Given the description of an element on the screen output the (x, y) to click on. 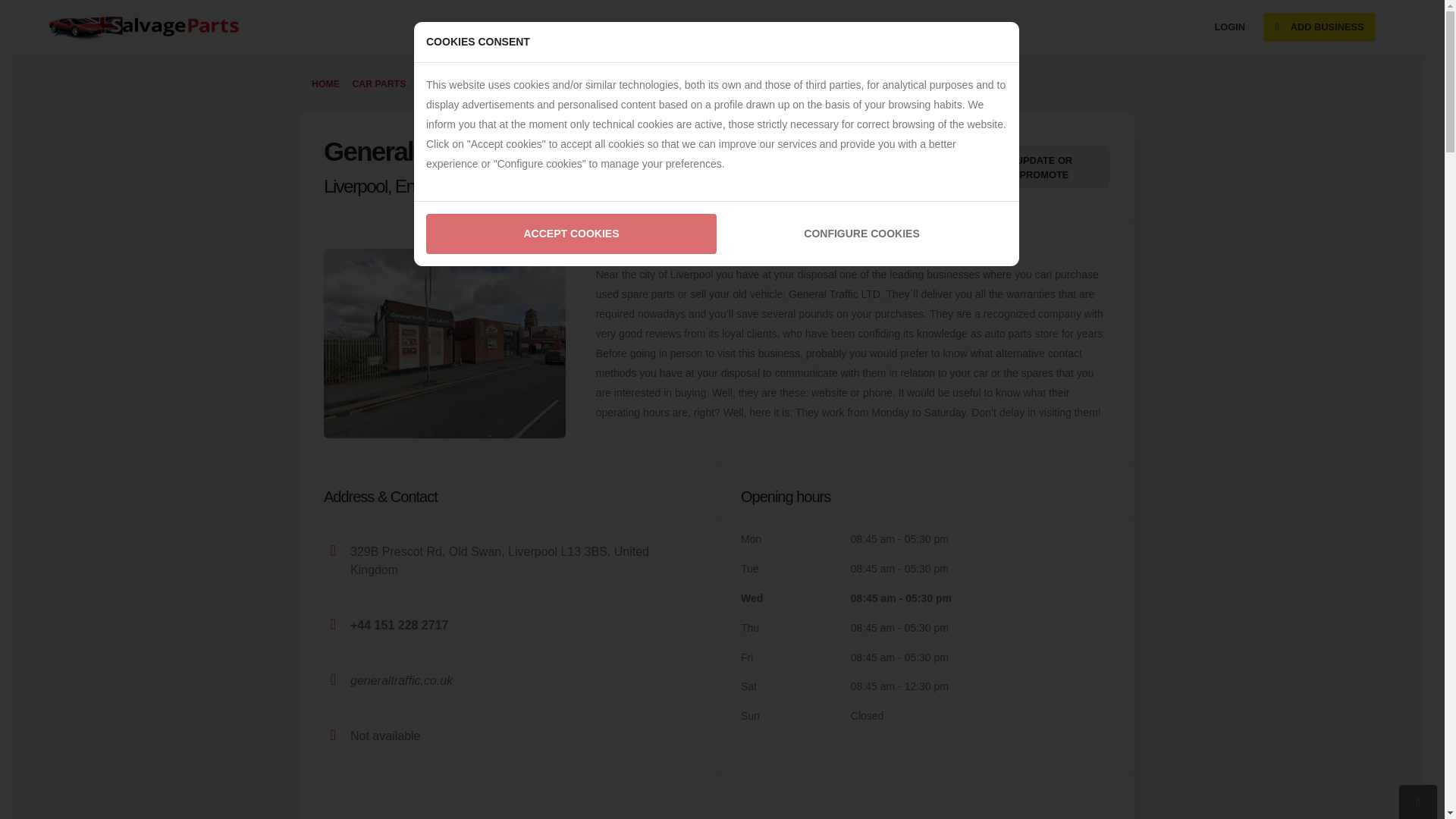
SELL CAR (449, 27)
CARS FOR SALE (533, 27)
ENGLAND (441, 83)
SCRAP METAL (905, 27)
CAR PARTS (379, 83)
HOME (325, 83)
USED PARTS (728, 27)
LOCATIONS (989, 27)
LIVERPOOL (504, 83)
PARTS REQUEST (635, 27)
LOGIN (1229, 27)
ADD BUSINESS (1319, 27)
WRITE A REVIEW (874, 166)
SCRAP YARDS (815, 27)
